Given the description of an element on the screen output the (x, y) to click on. 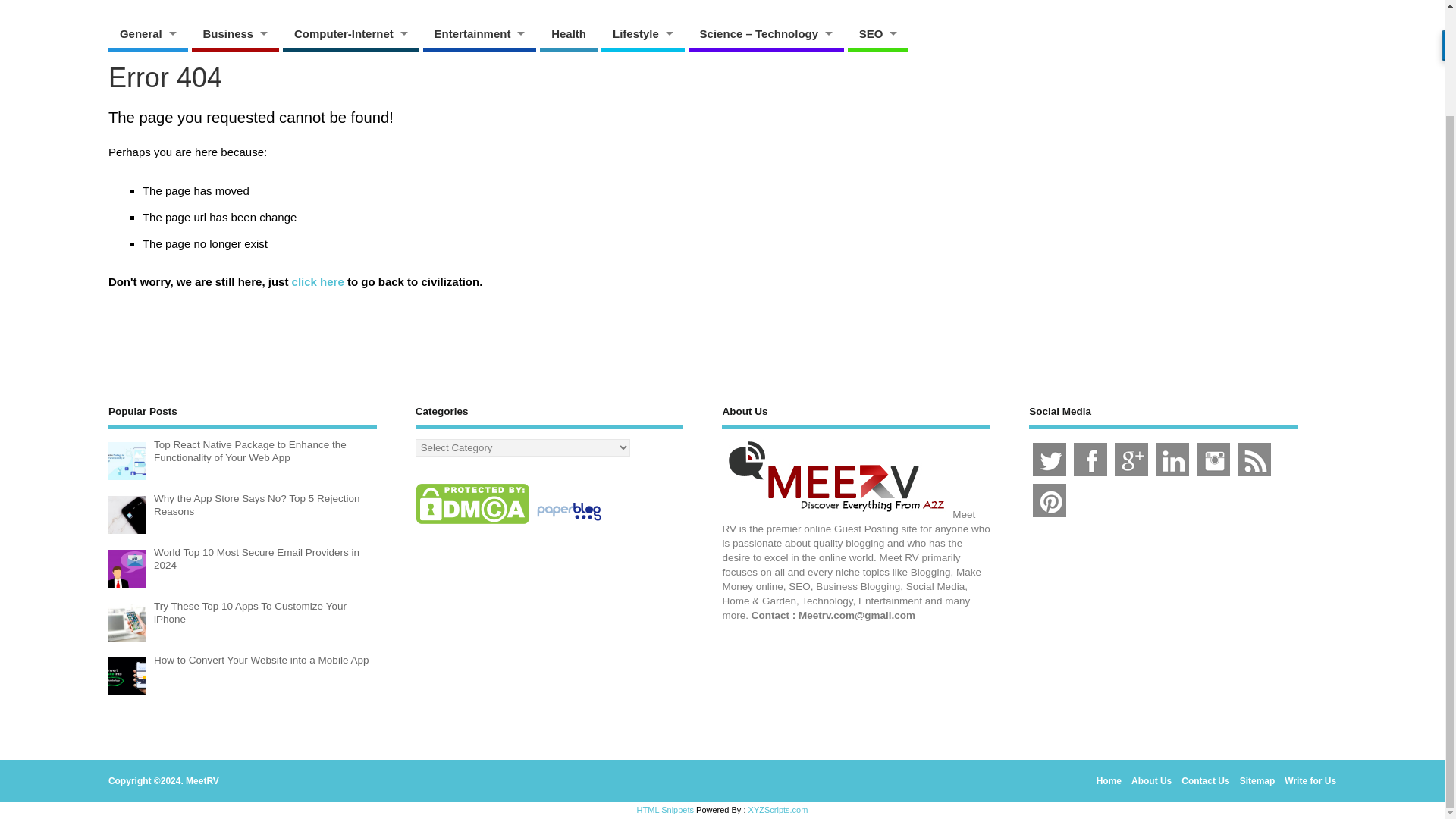
Computer-Internet (350, 33)
DMCA.com Protection Status (471, 523)
Entertainment (480, 33)
Lifestyle (642, 33)
General (147, 33)
Paperblog : The best blog articles around (569, 523)
Business (234, 33)
Insert HTML Snippet Wordpress Plugin (665, 809)
Health (568, 33)
